Given the description of an element on the screen output the (x, y) to click on. 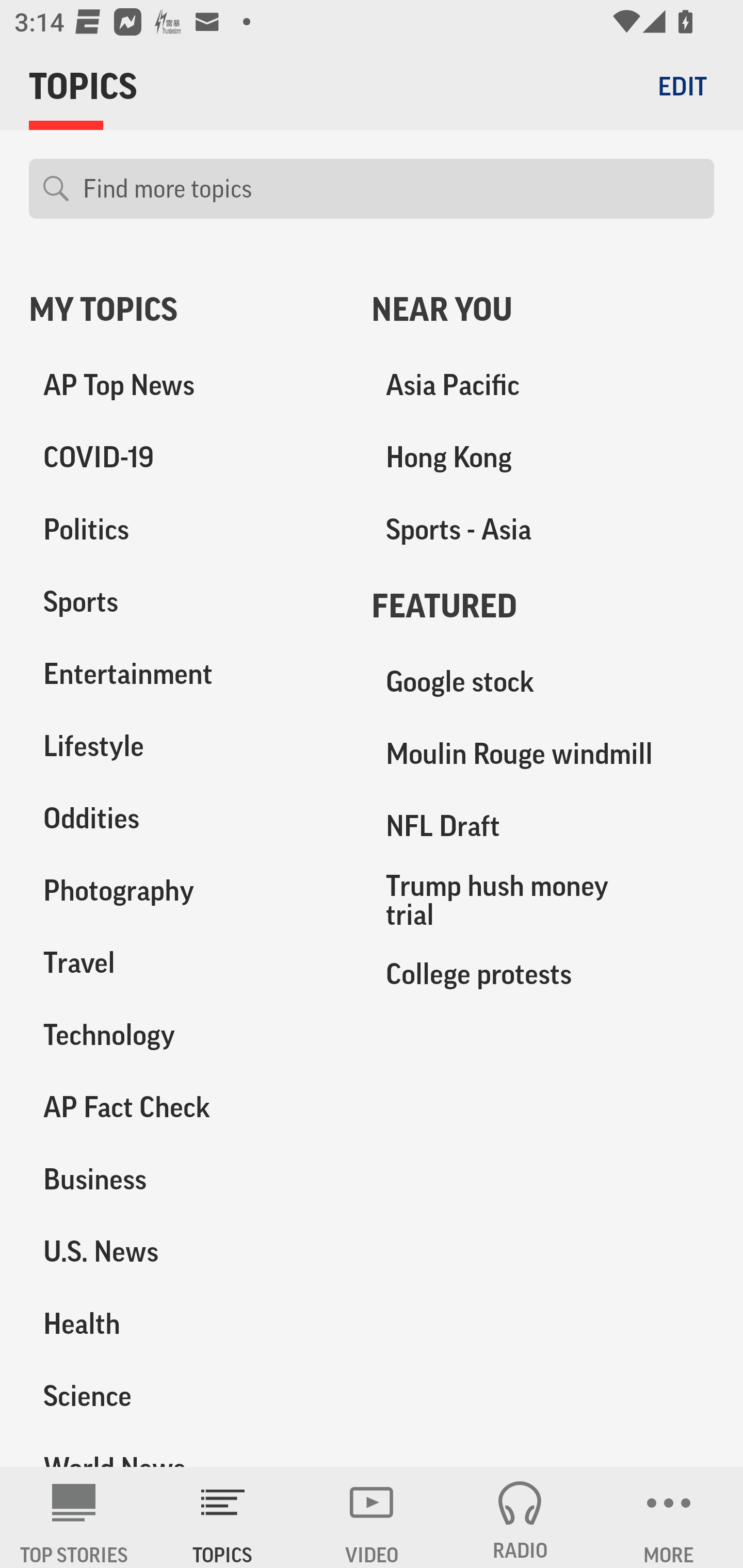
EDIT (682, 86)
Find more topics (391, 188)
AP Top News (185, 385)
Asia Pacific (542, 385)
COVID-19 (185, 457)
Hong Kong (542, 457)
Politics (185, 529)
Sports - Asia (542, 529)
Sports (185, 602)
Entertainment (185, 674)
Google stock (542, 682)
Lifestyle (185, 746)
Moulin Rouge windmill (542, 754)
Oddities (185, 818)
NFL Draft (542, 826)
Photography (185, 890)
Trump hush money trial (542, 899)
Travel (185, 962)
College protests (542, 973)
Technology (185, 1034)
AP Fact Check (185, 1106)
Business (185, 1179)
U.S. News (185, 1251)
Health (185, 1323)
Science (185, 1395)
AP News TOP STORIES (74, 1517)
TOPICS (222, 1517)
VIDEO (371, 1517)
RADIO (519, 1517)
MORE (668, 1517)
